Given the description of an element on the screen output the (x, y) to click on. 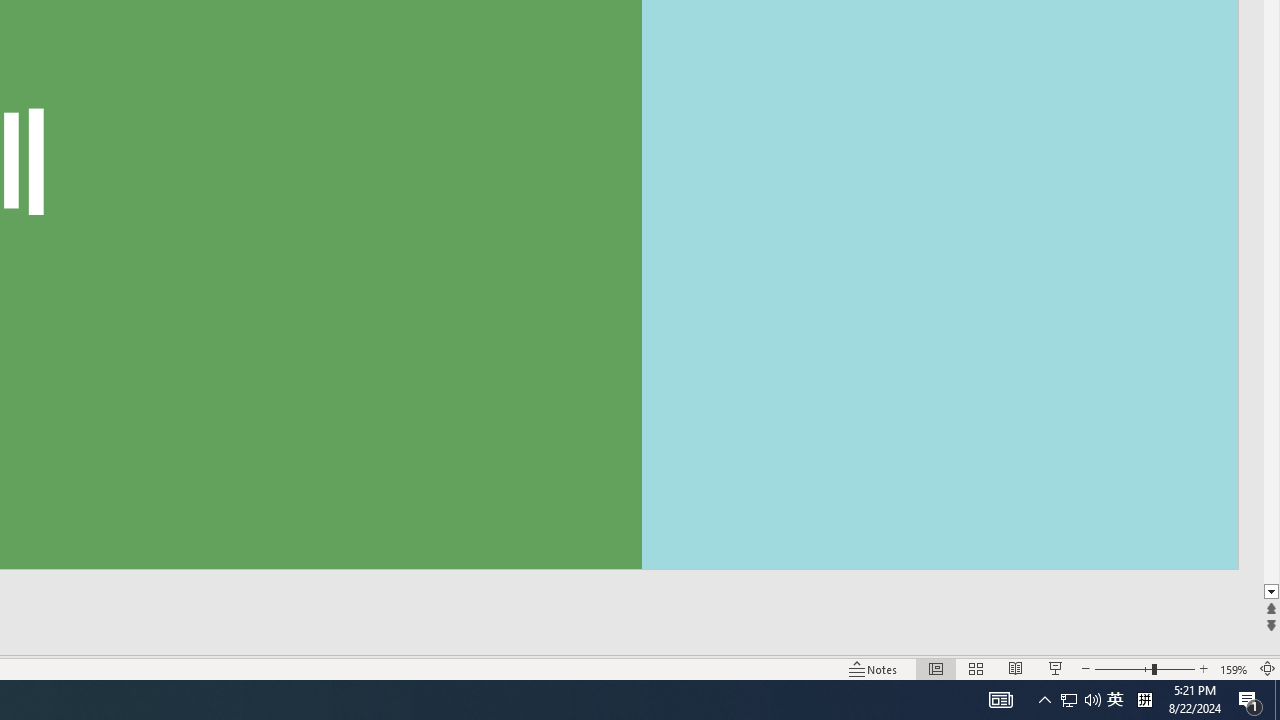
Zoom 159% (1234, 668)
